Given the description of an element on the screen output the (x, y) to click on. 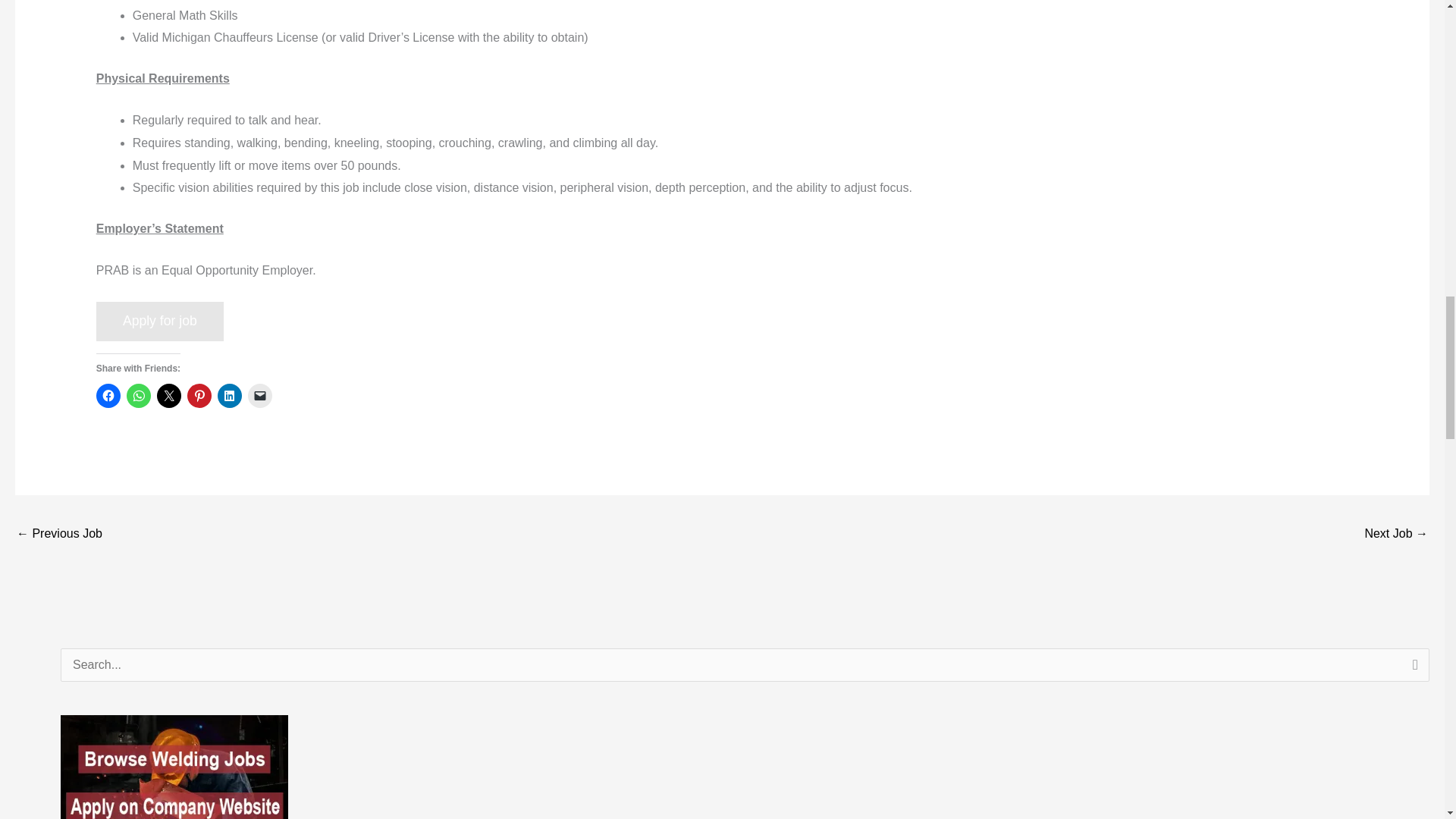
Click to share on Pinterest (199, 395)
Click to email a link to a friend (259, 395)
Apply for job (160, 322)
Click to share on Facebook (108, 395)
Click to share on X (168, 395)
Click to share on LinkedIn (228, 395)
Click to share on WhatsApp (138, 395)
Fabricator (58, 534)
